Given the description of an element on the screen output the (x, y) to click on. 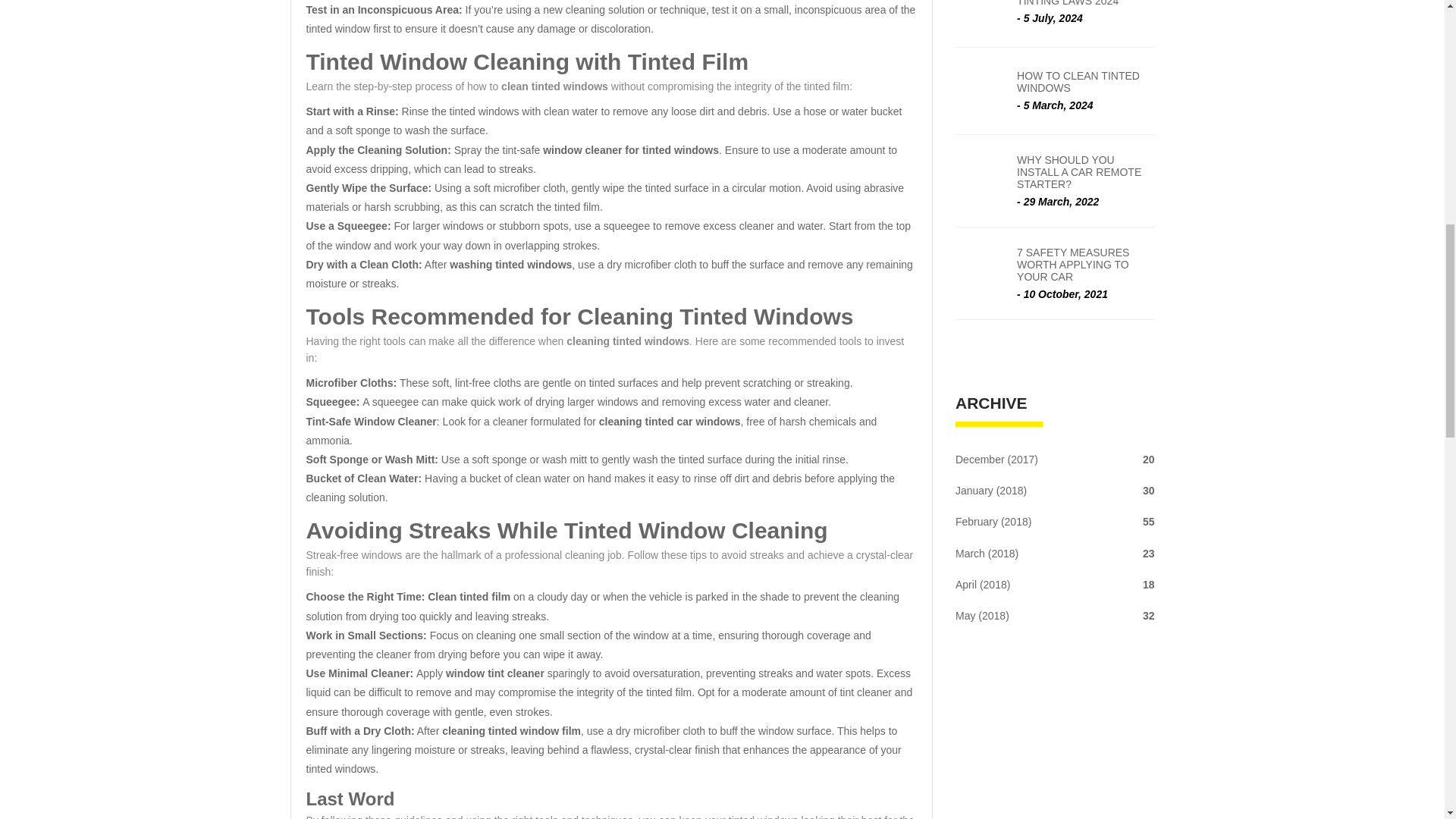
7 SAFETY MEASURES WORTH APPLYING TO YOUR CAR (1085, 264)
HOW TO CLEAN TINTED WINDOWS (1085, 81)
WHY SHOULD YOU INSTALL A CAR REMOTE STARTER? (1085, 171)
VIRGINIA WINDOW TINTING LAWS 2024 (1085, 3)
